Given the description of an element on the screen output the (x, y) to click on. 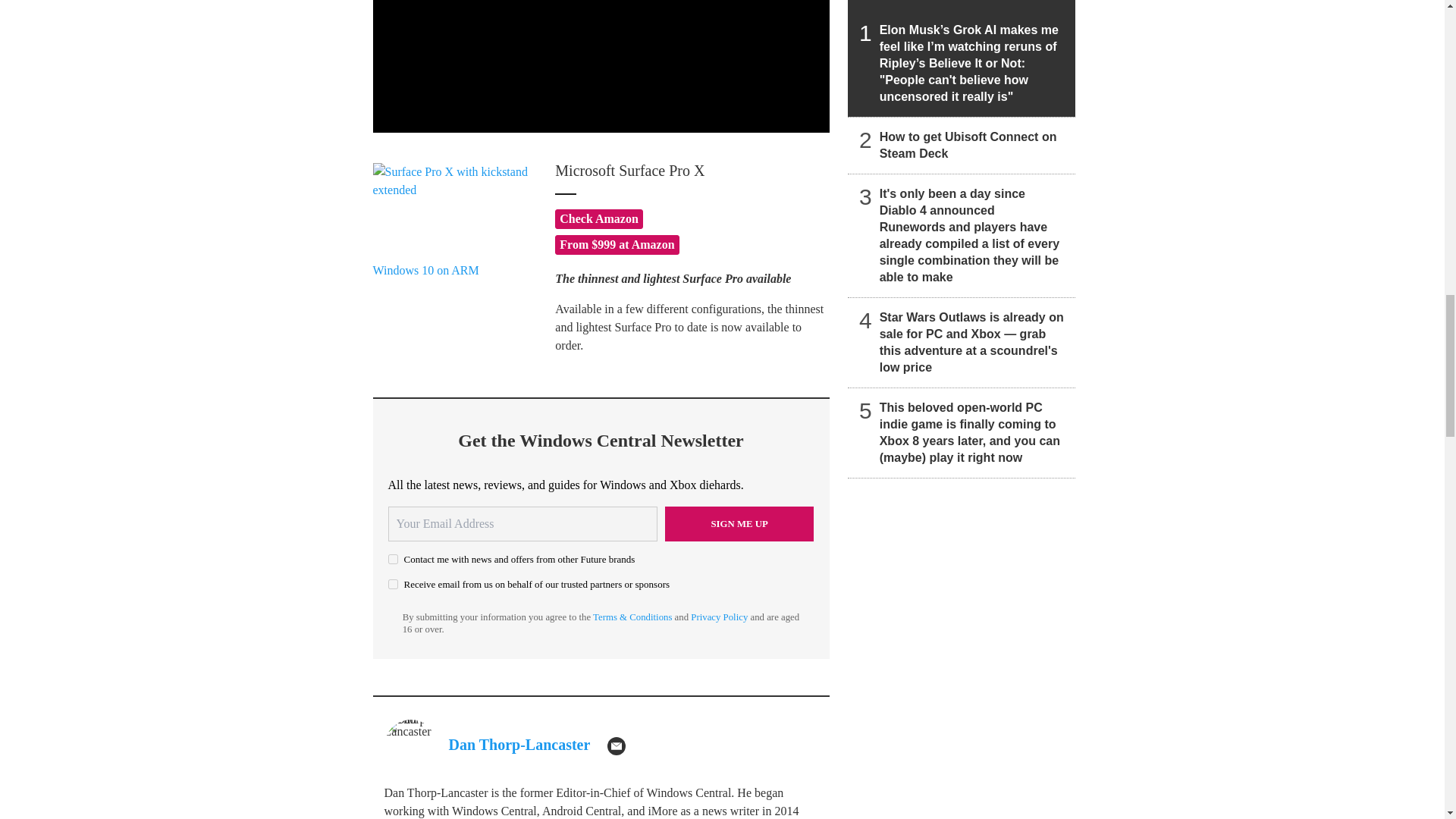
Check Amazon (599, 218)
on (392, 583)
Privacy Policy (719, 616)
Sign me up (739, 523)
Sign me up (739, 523)
on (392, 559)
